Given the description of an element on the screen output the (x, y) to click on. 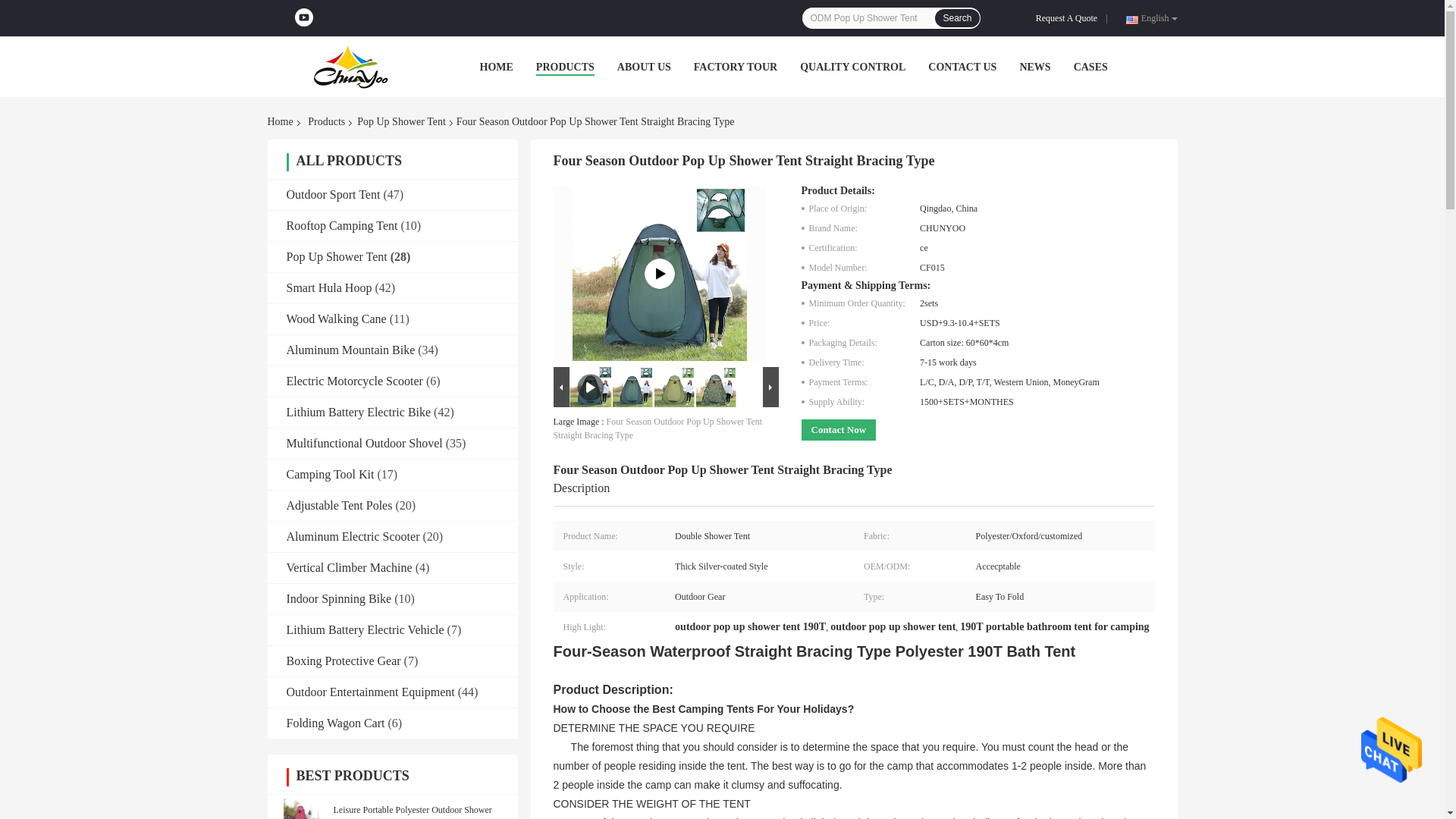
PRODUCTS (564, 66)
Pop Up Shower Tent (336, 256)
Outdoor Sport Tent (333, 194)
CASES (1091, 66)
Request A Quote (1069, 18)
Rooftop Camping Tent (341, 225)
Search (956, 18)
Pop Up Shower Tent (400, 121)
FACTORY TOUR (735, 66)
Home (282, 121)
